Given the description of an element on the screen output the (x, y) to click on. 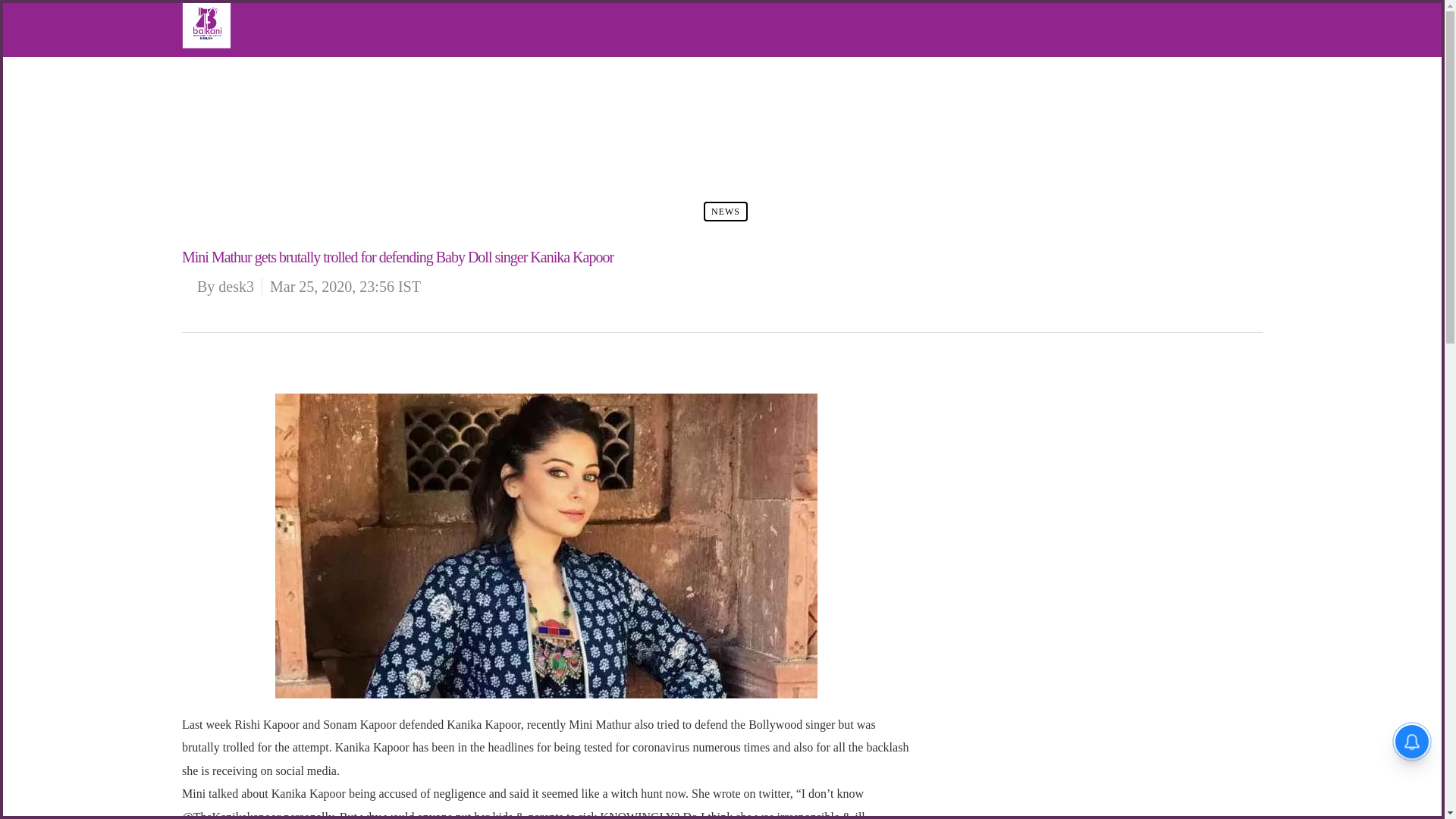
HOME (229, 68)
LANGUAGE (242, 159)
SEARCH (234, 182)
NEWS (725, 211)
FROM-BALKANI (253, 114)
NEWS (229, 91)
LIFESTYLE (241, 136)
